Given the description of an element on the screen output the (x, y) to click on. 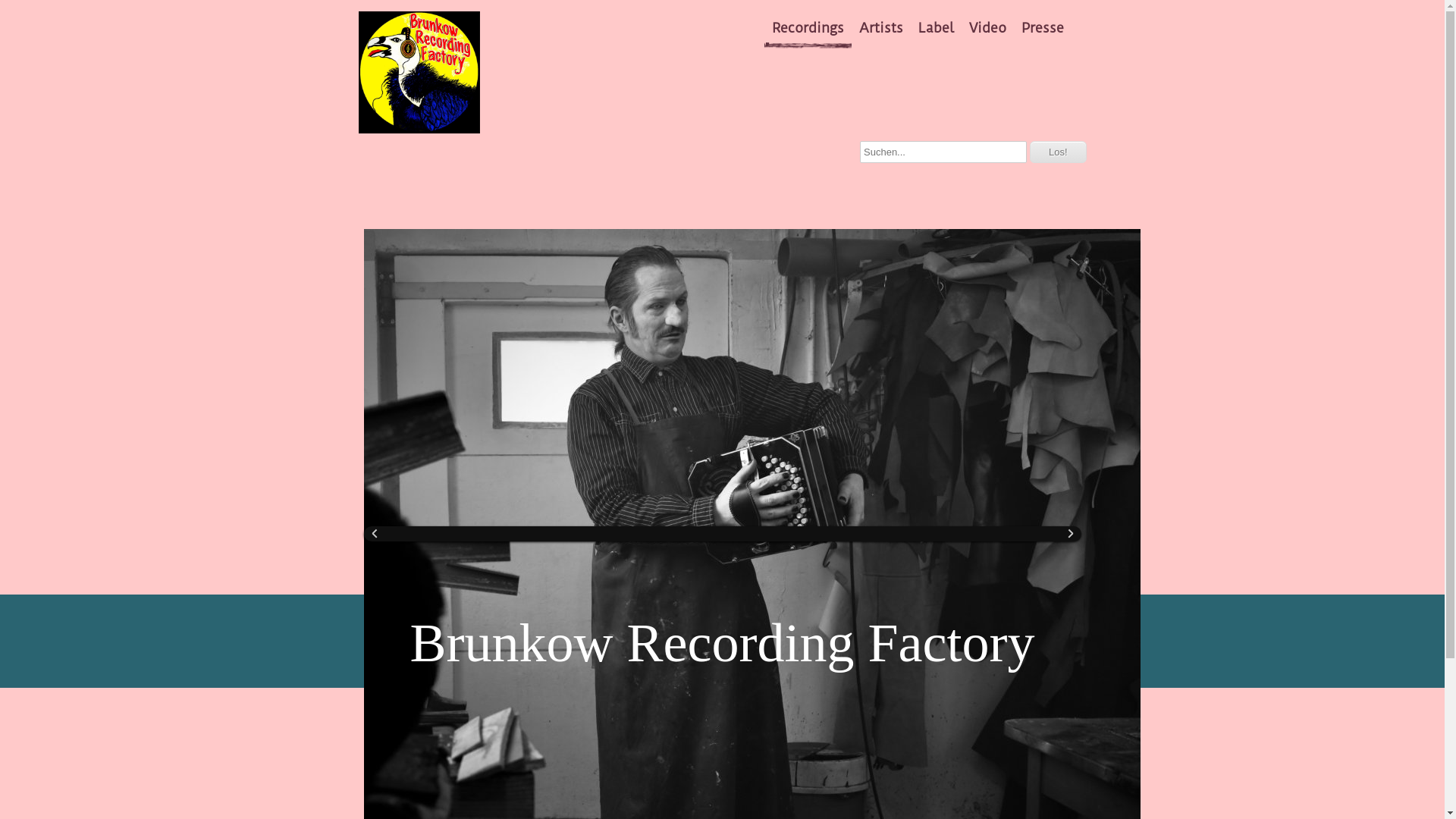
Video Element type: text (987, 27)
Artists Element type: text (880, 27)
Recordings Element type: text (807, 27)
Presse Element type: text (1042, 27)
Los! Element type: text (1057, 152)
Label Element type: text (935, 27)
